Given the description of an element on the screen output the (x, y) to click on. 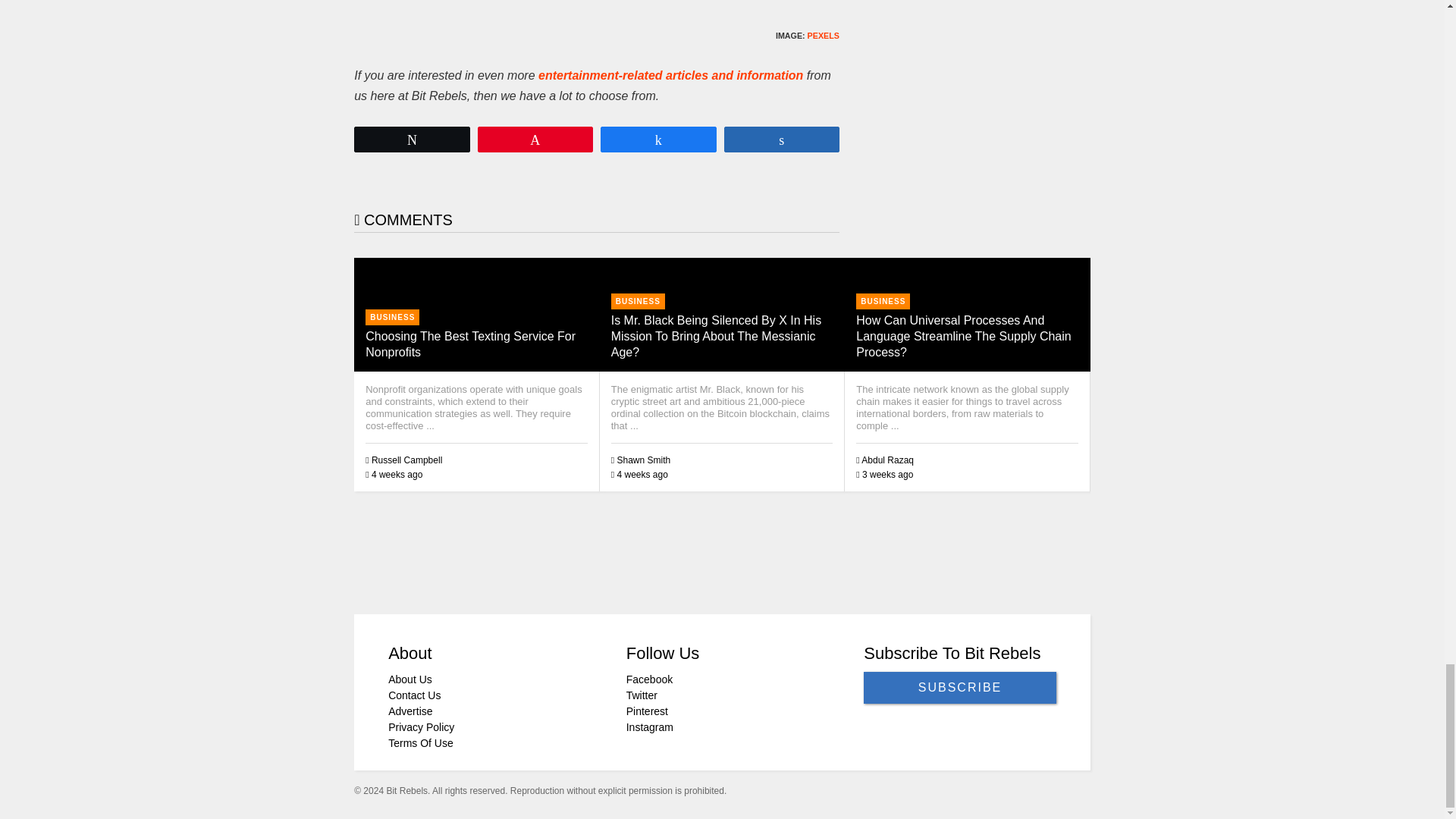
PEXELS (824, 35)
entertainment-related articles and information (670, 74)
